Given the description of an element on the screen output the (x, y) to click on. 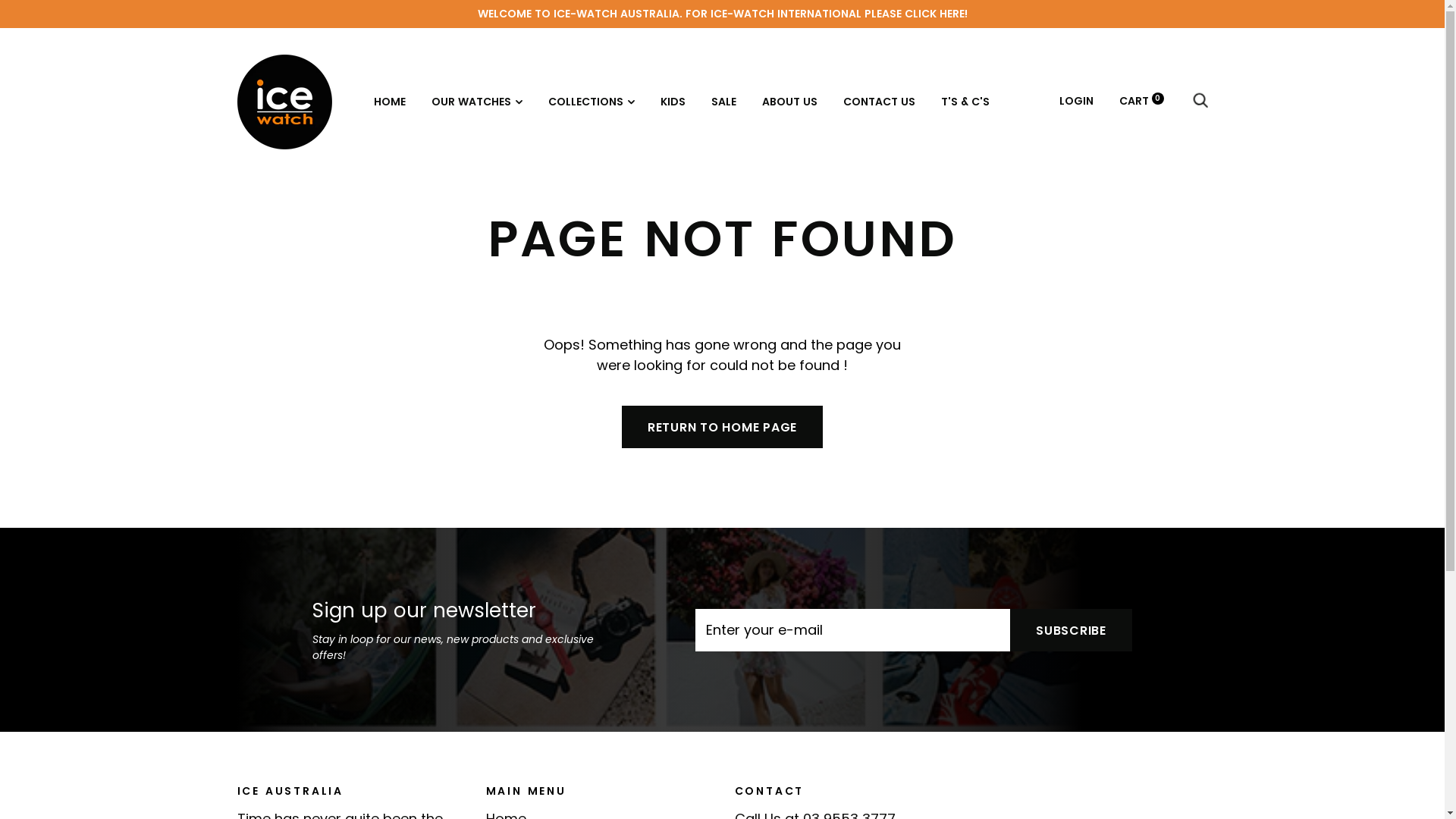
KIDS Element type: text (671, 101)
ABOUT US Element type: text (788, 101)
OUR WATCHES Element type: text (475, 101)
SALE Element type: text (723, 101)
LOGIN Element type: text (1075, 100)
HOME Element type: text (388, 101)
RETURN TO HOME PAGE Element type: text (721, 426)
Subscribe Element type: text (1071, 629)
CART 0 Element type: text (1141, 100)
COLLECTIONS Element type: text (590, 101)
T'S & C'S Element type: text (964, 101)
CONTACT US Element type: text (879, 101)
